Given the description of an element on the screen output the (x, y) to click on. 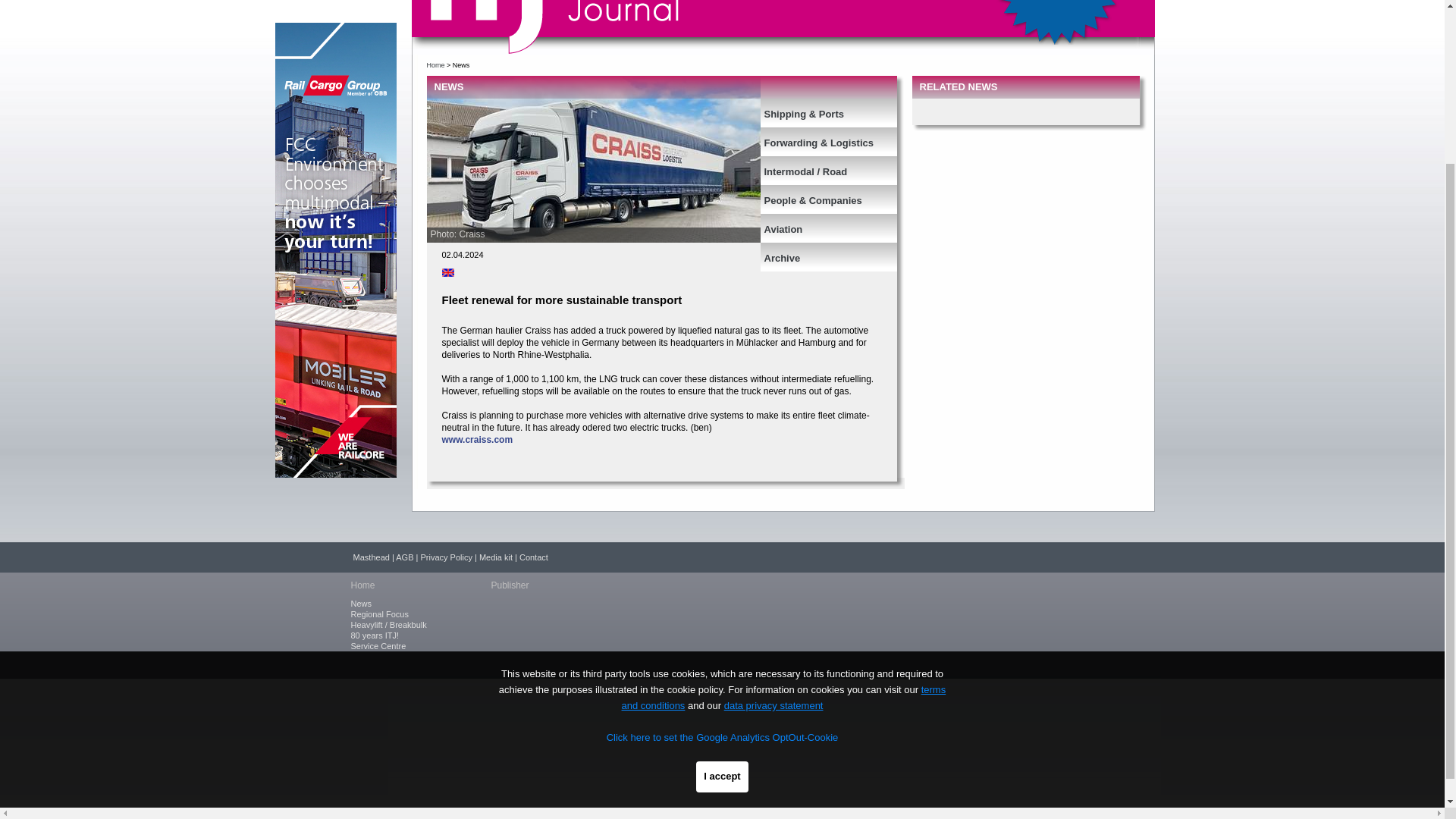
www.craiss.com (476, 439)
Privacy Policy (445, 556)
Masthead (371, 556)
Aviation (818, 224)
Archive (818, 252)
Home (435, 64)
AGB (404, 556)
